Given the description of an element on the screen output the (x, y) to click on. 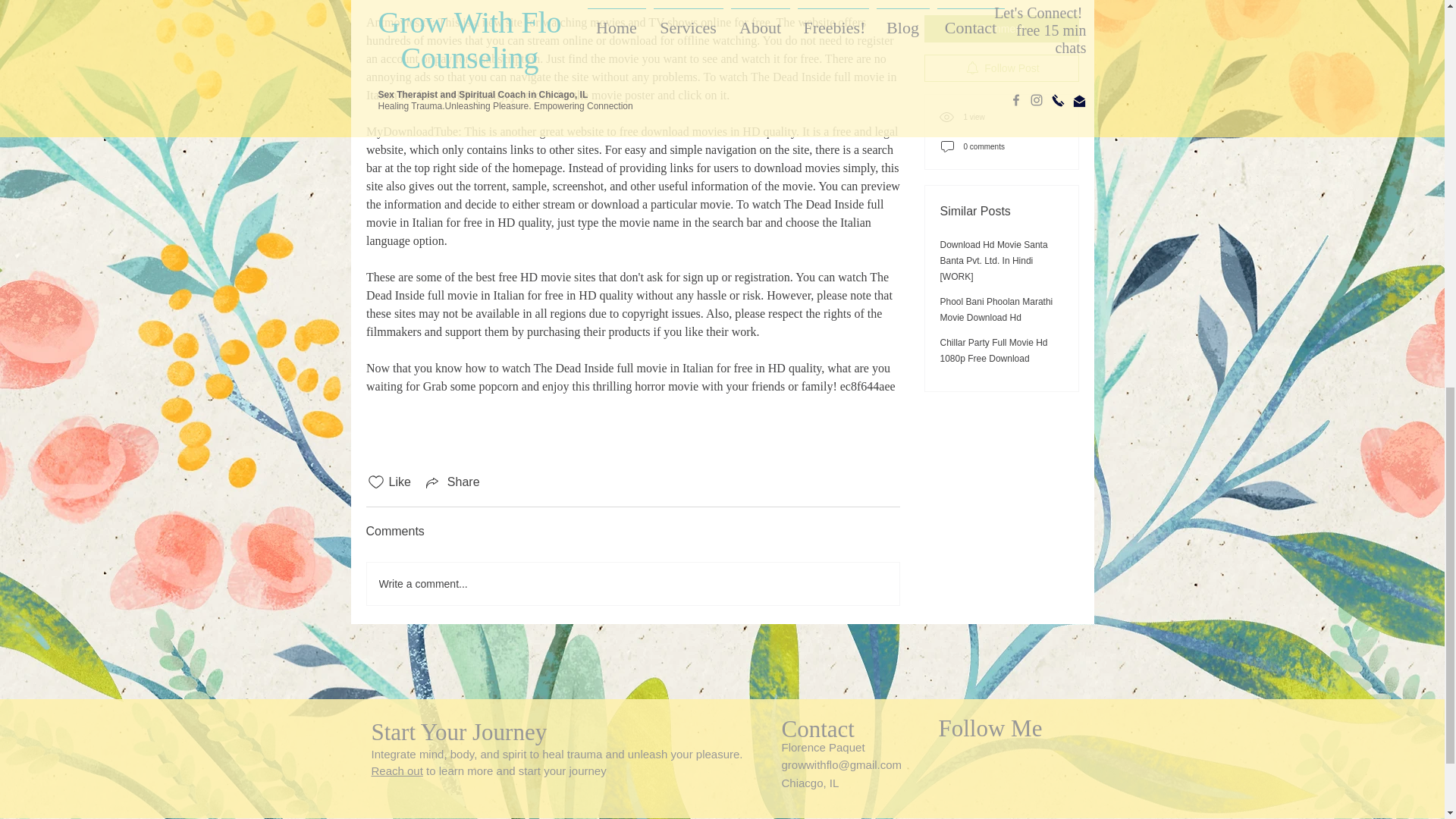
Write a comment... (632, 583)
Share (451, 482)
Reach out (397, 770)
